Given the description of an element on the screen output the (x, y) to click on. 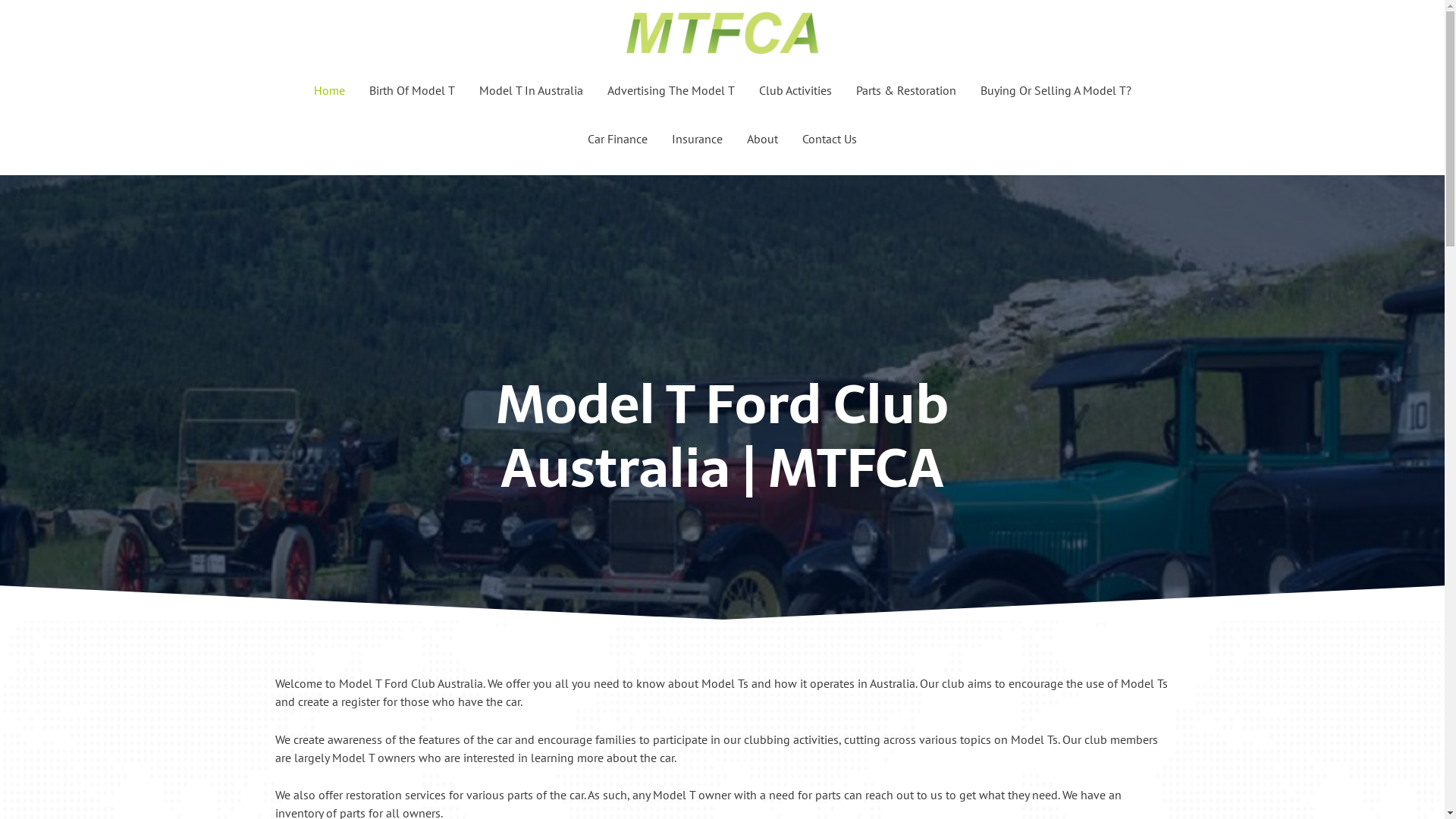
Buying Or Selling A Model T? Element type: text (1054, 89)
Birth Of Model T Element type: text (411, 89)
Contact Us Element type: text (829, 138)
Parts & Restoration Element type: text (905, 89)
Model T In Australia Element type: text (531, 89)
Home Element type: text (329, 89)
Club Activities Element type: text (794, 89)
Insurance Element type: text (696, 138)
About Element type: text (762, 138)
Car Finance Element type: text (617, 138)
Advertising The Model T Element type: text (670, 89)
